Given the description of an element on the screen output the (x, y) to click on. 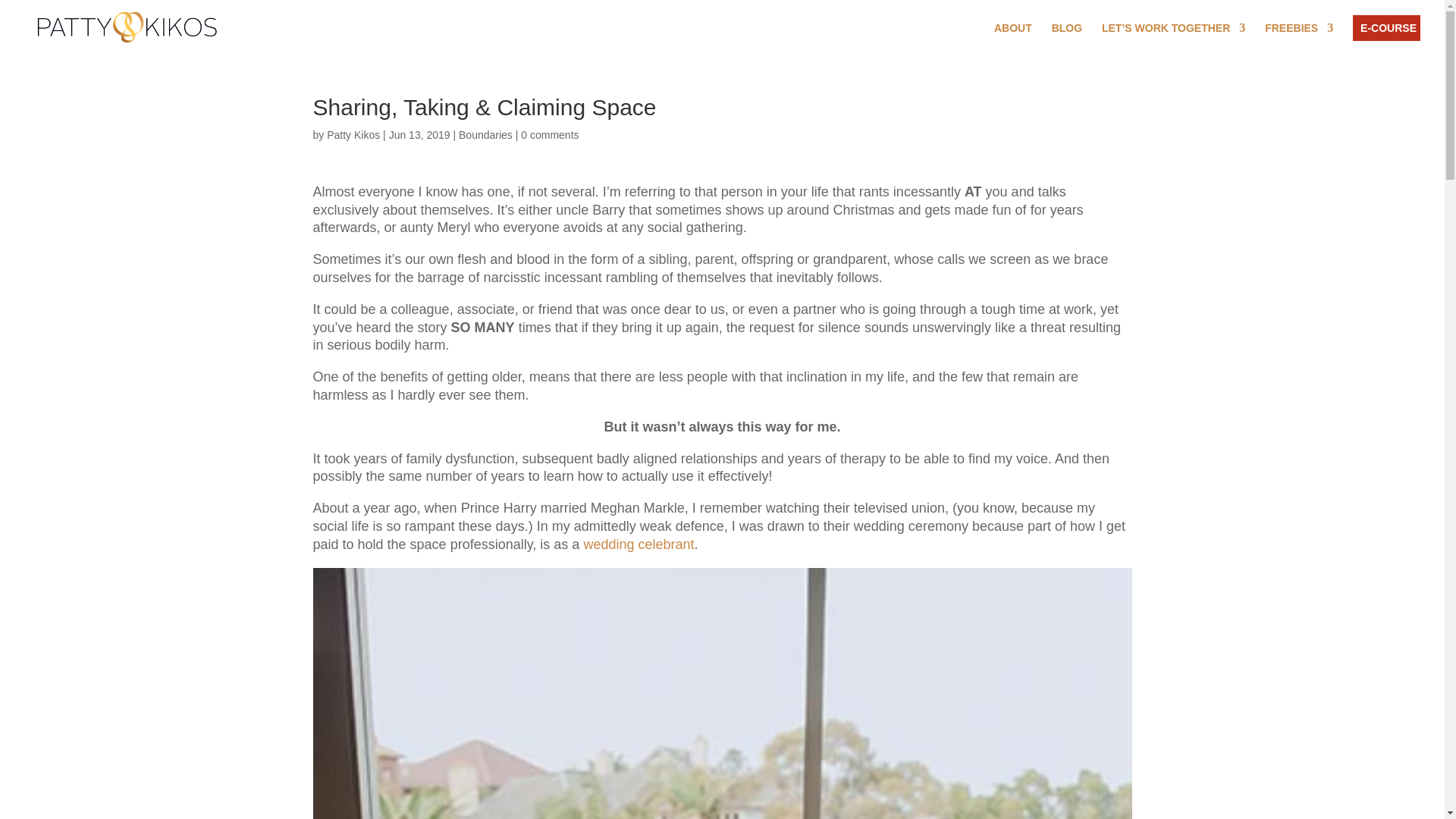
ABOUT (1013, 29)
FREEBIES (1299, 37)
E-COURSE (1388, 27)
BLOG (1066, 29)
Posts by Patty Kikos (353, 134)
